Given the description of an element on the screen output the (x, y) to click on. 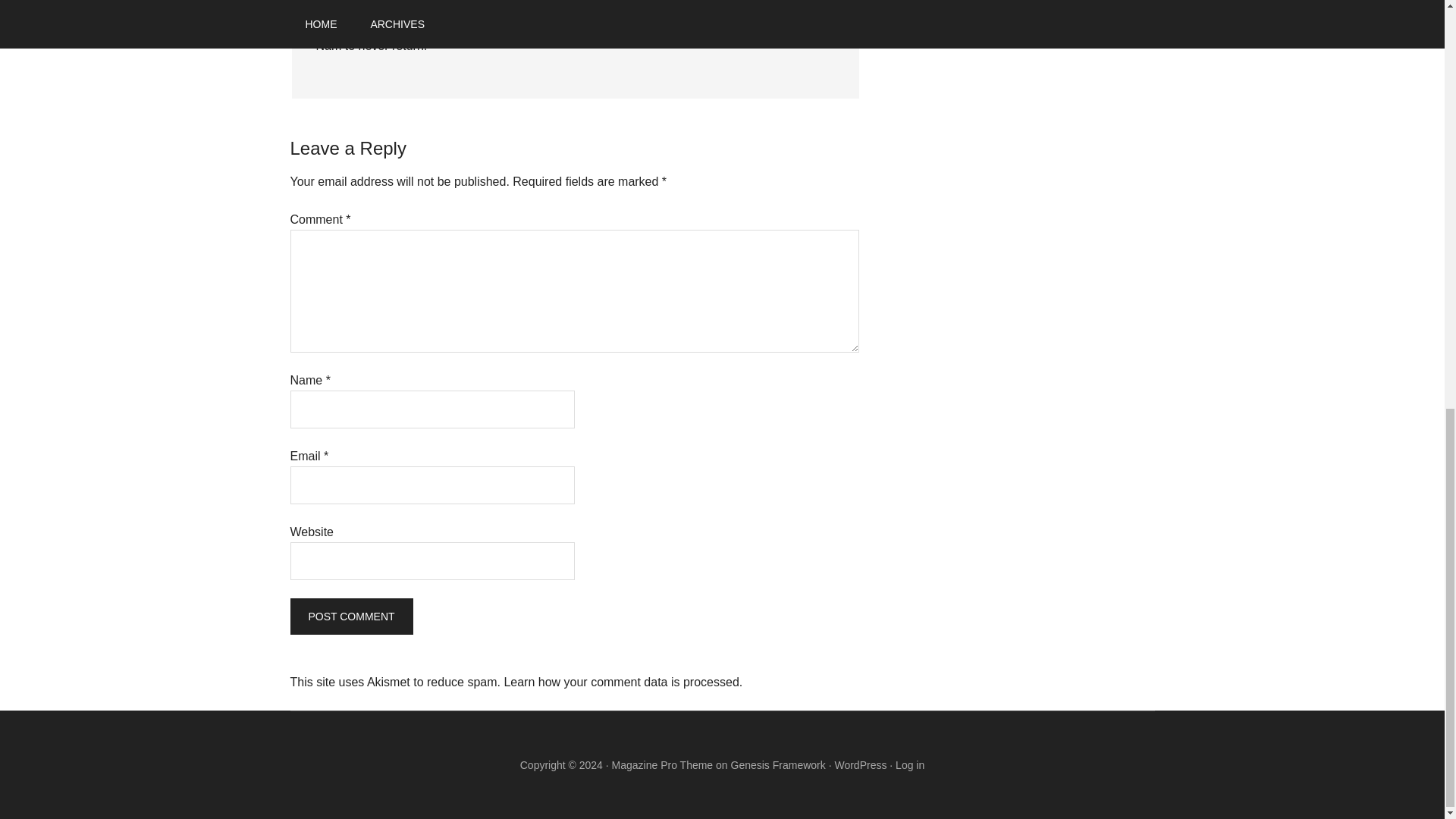
Magazine Pro Theme (662, 765)
WordPress (860, 765)
Log in (909, 765)
Post Comment (350, 616)
Learn how your comment data is processed (620, 681)
Genesis Framework (777, 765)
Post Comment (350, 616)
